Given the description of an element on the screen output the (x, y) to click on. 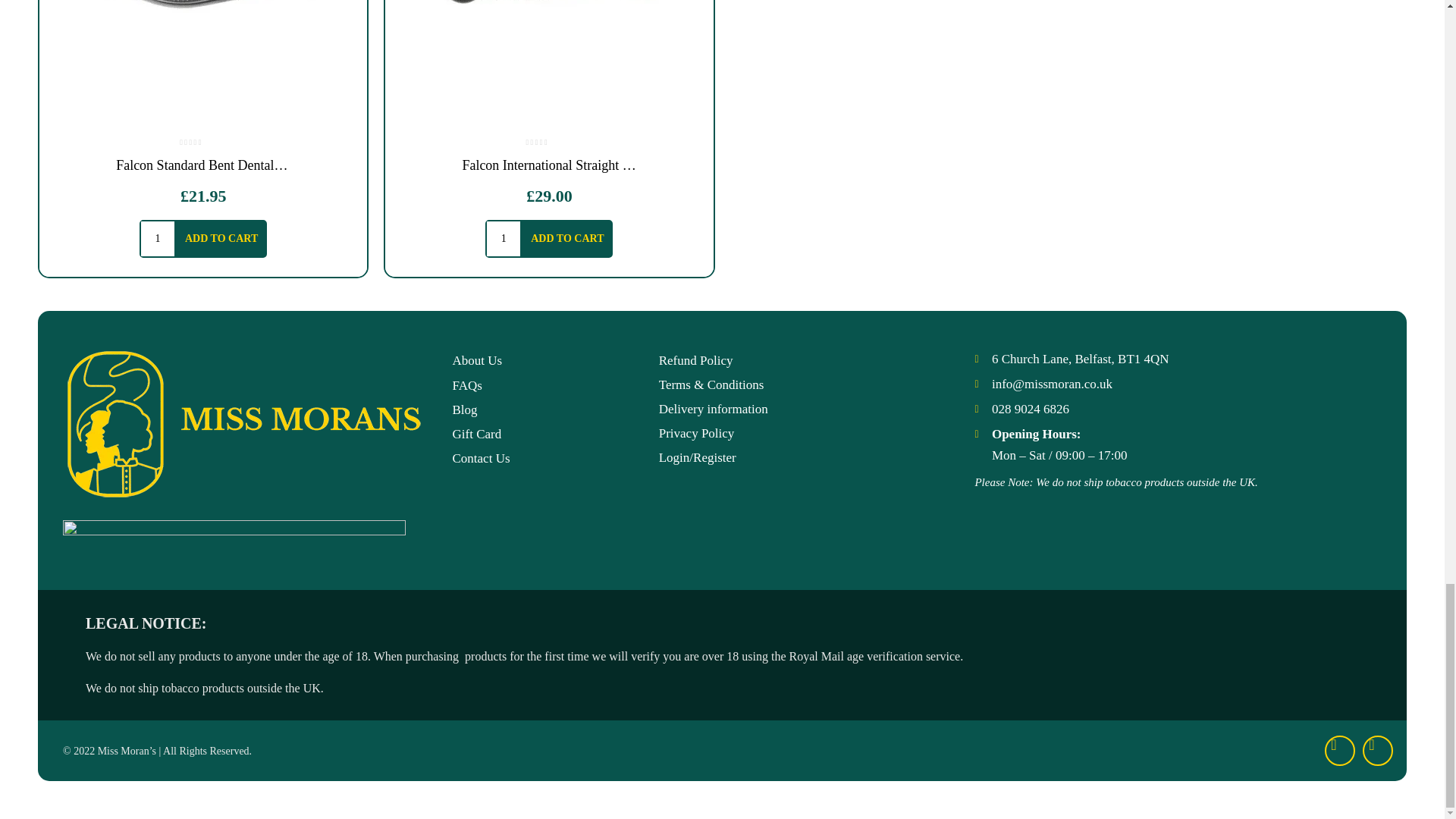
Falcon Standard Bent Dental Stem (202, 64)
1 (502, 238)
1 (157, 238)
